Given the description of an element on the screen output the (x, y) to click on. 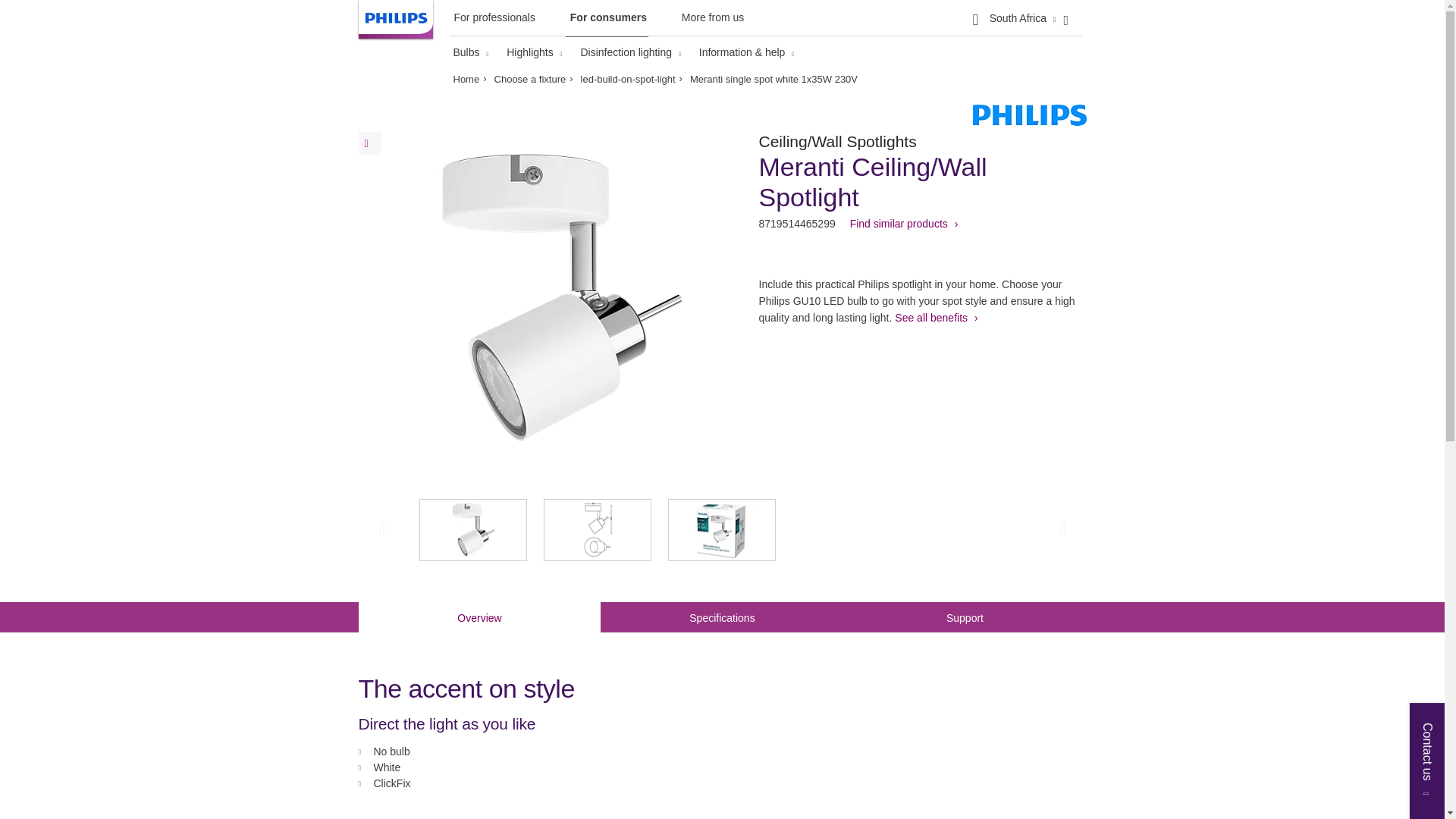
Choose a fixture (534, 78)
See all benefits (935, 317)
For consumers (606, 20)
Meranti single spot white 1x35W 230V (773, 78)
Find similar products (904, 223)
More from us (711, 19)
For professionals (491, 19)
Home (469, 78)
led-build-on-spot-light (631, 78)
